Given the description of an element on the screen output the (x, y) to click on. 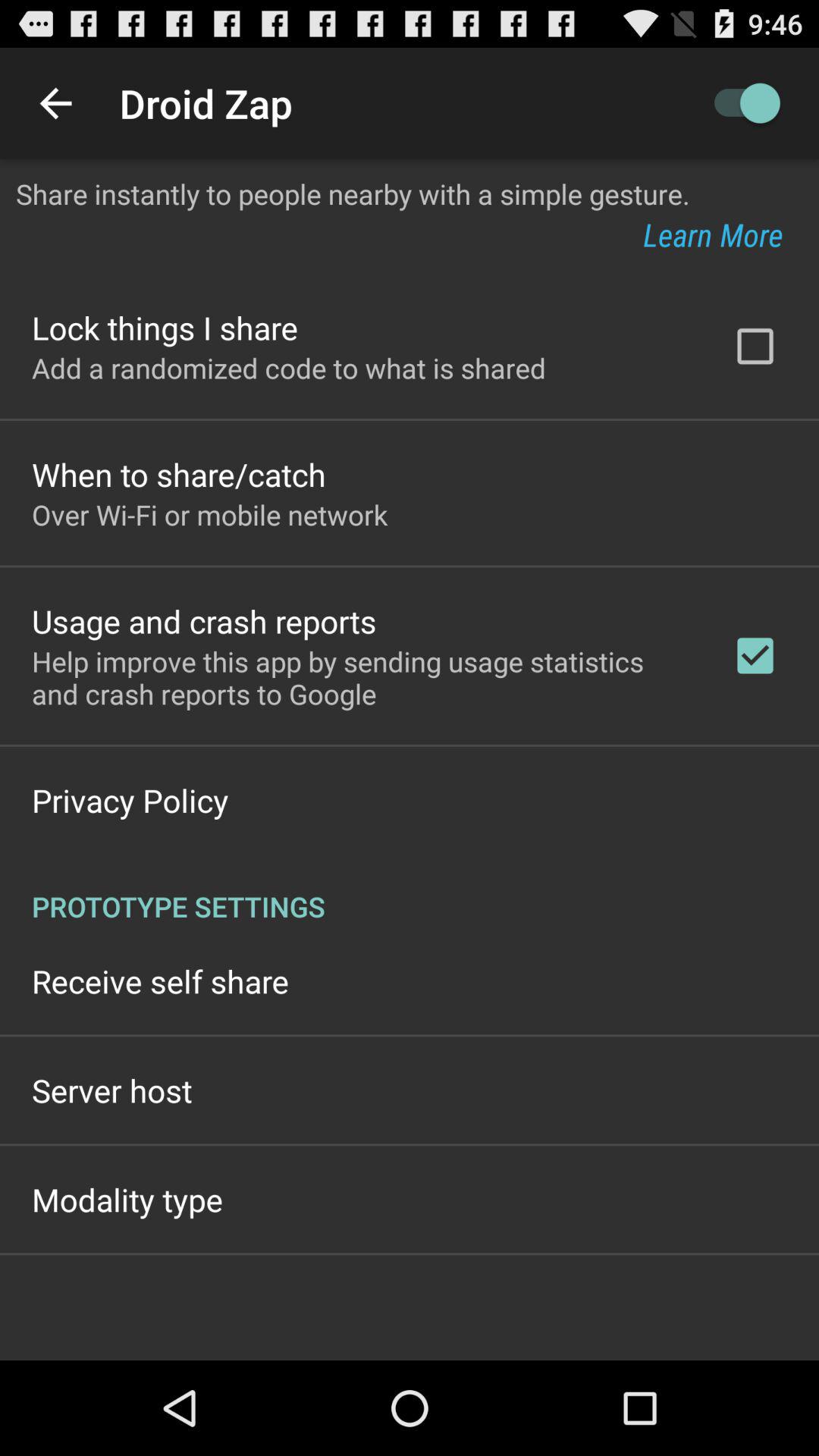
toggle off (739, 103)
